Given the description of an element on the screen output the (x, y) to click on. 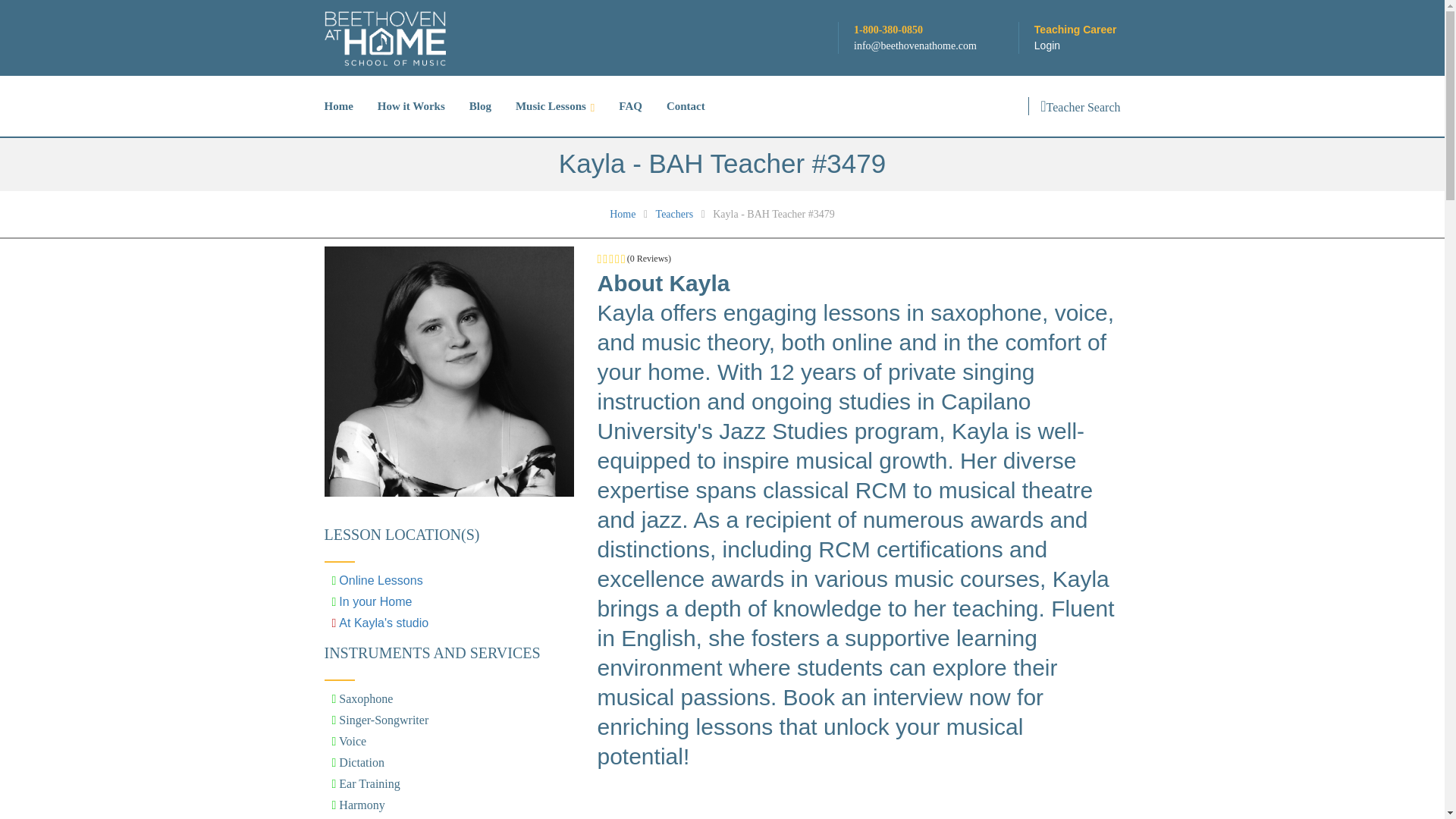
At Kayla's studio (383, 622)
Online Lessons (380, 580)
Home (624, 214)
Teachers (675, 214)
Login (1046, 45)
Teaching Career (1077, 29)
Music Lessons (555, 106)
In your Home (375, 601)
How it Works (411, 106)
